Given the description of an element on the screen output the (x, y) to click on. 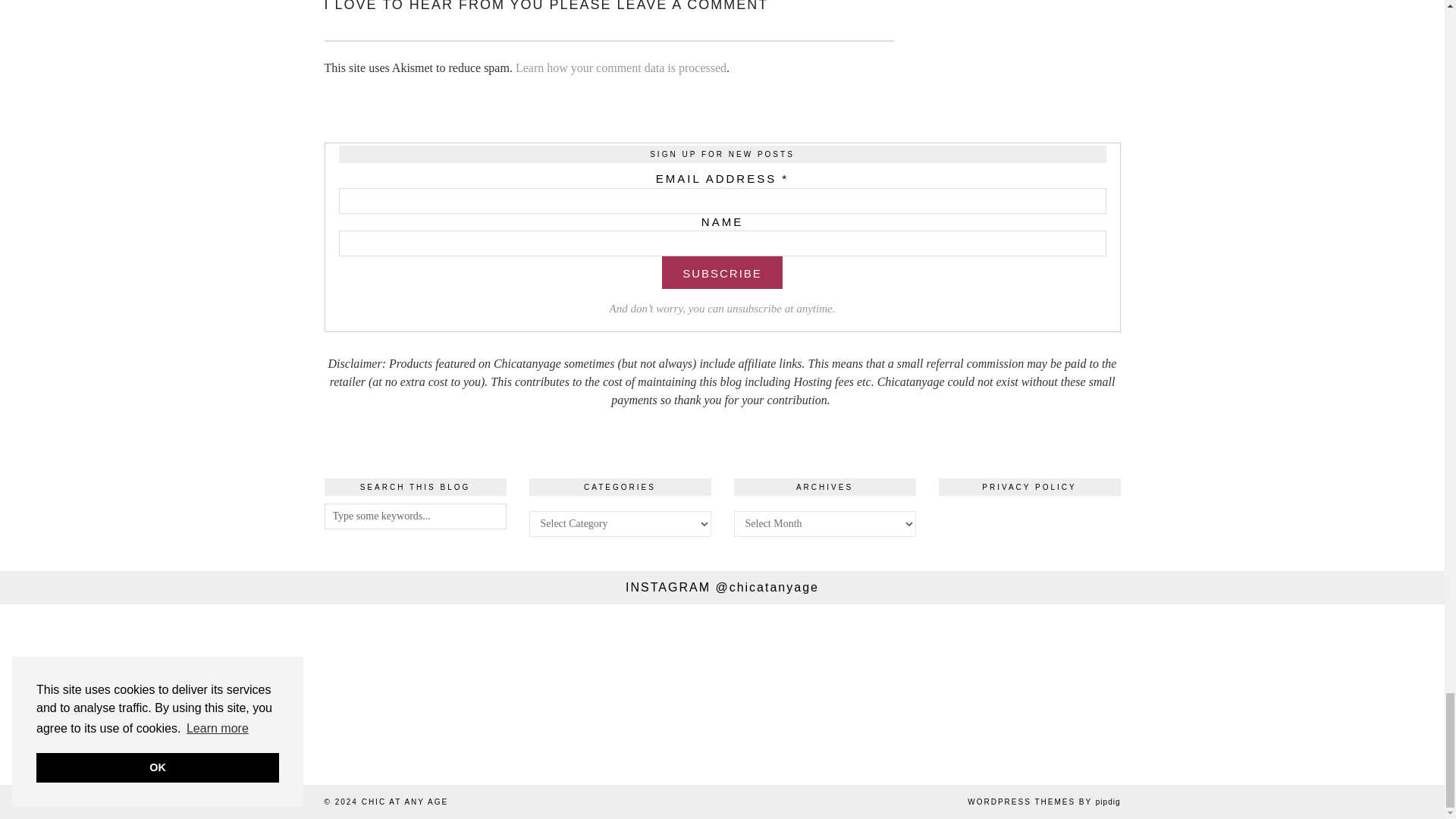
Subscribe (722, 272)
